Given the description of an element on the screen output the (x, y) to click on. 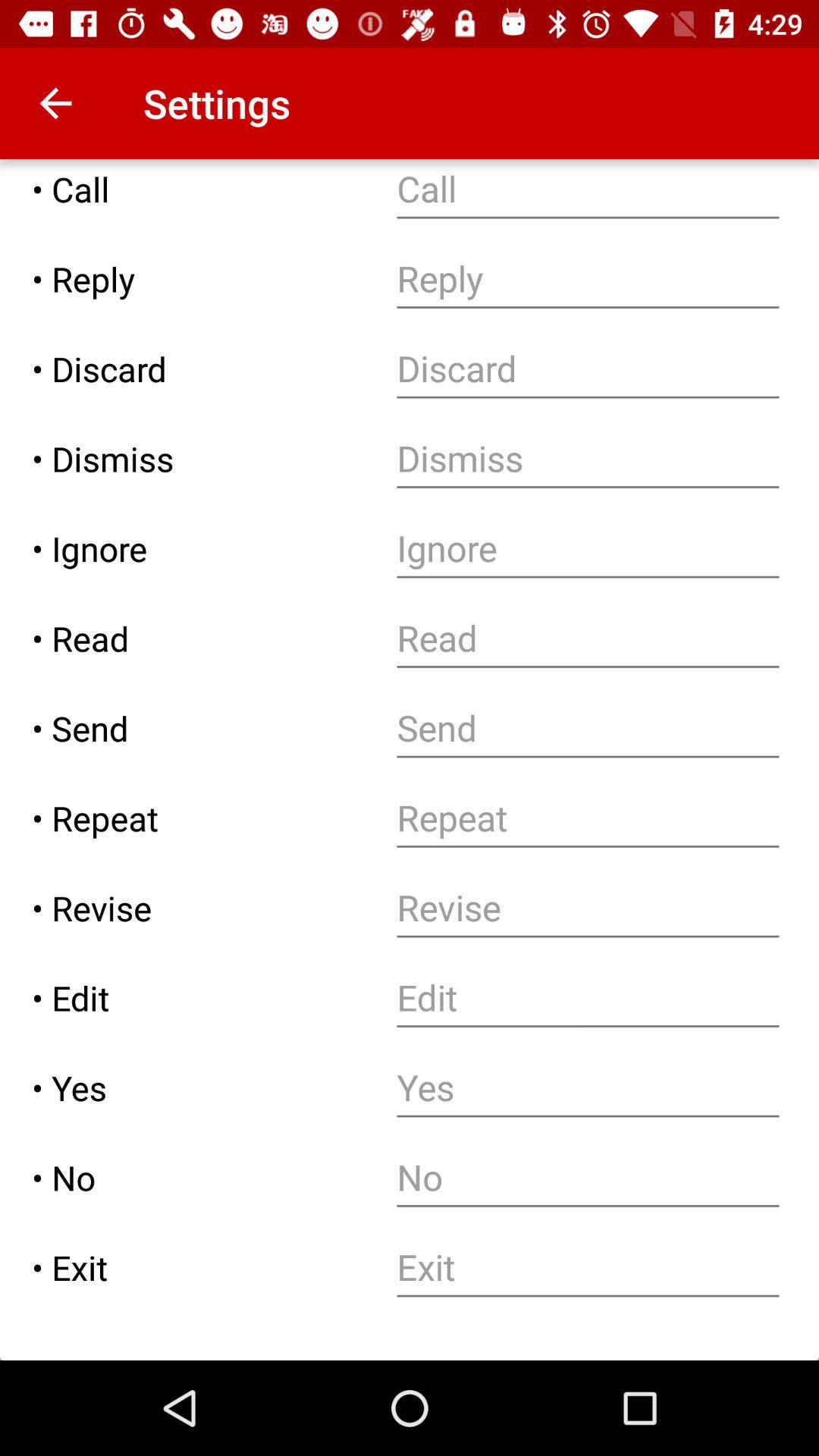
edit reply (588, 279)
